Given the description of an element on the screen output the (x, y) to click on. 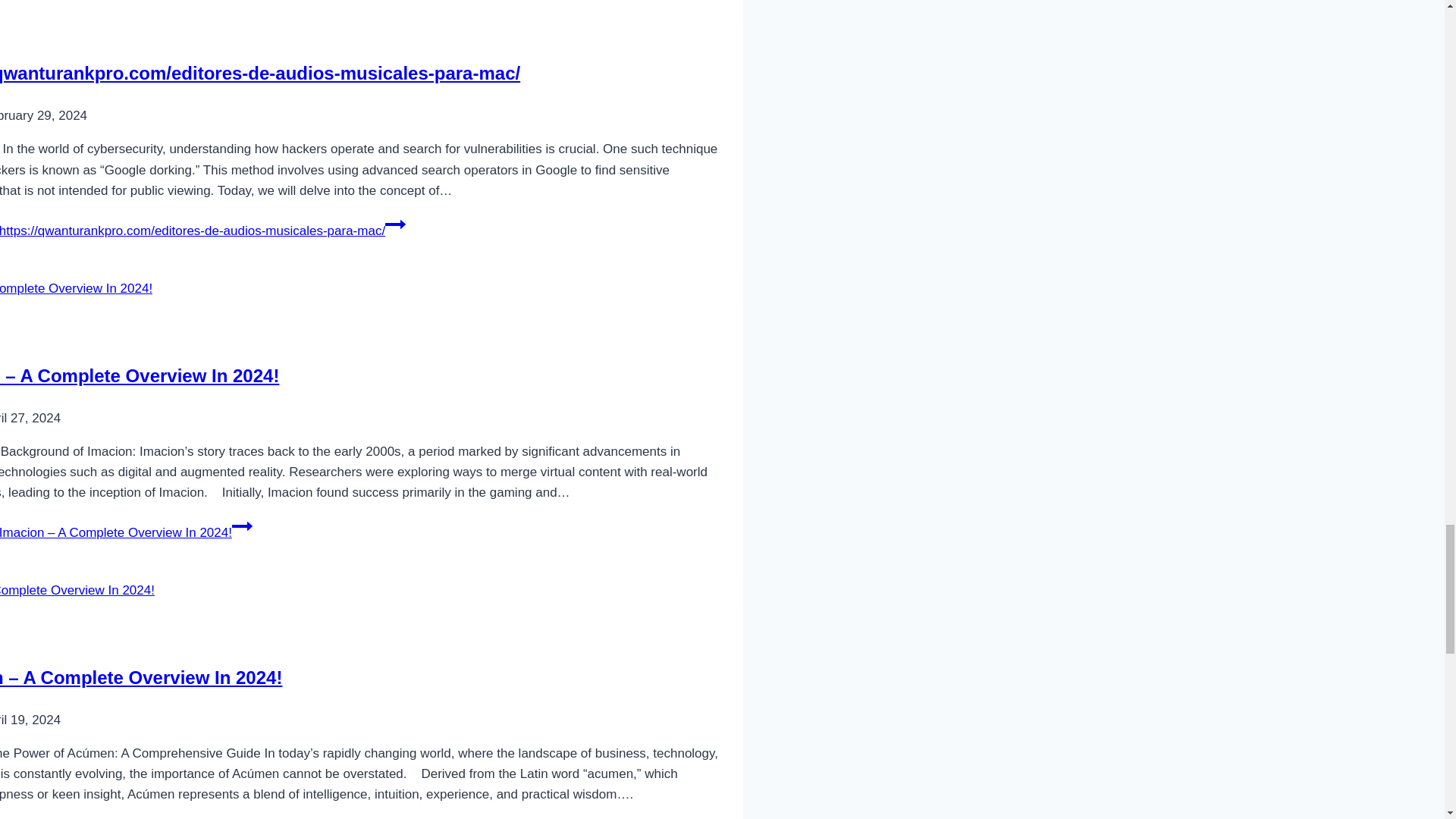
Continue (241, 526)
Continue (395, 224)
